Given the description of an element on the screen output the (x, y) to click on. 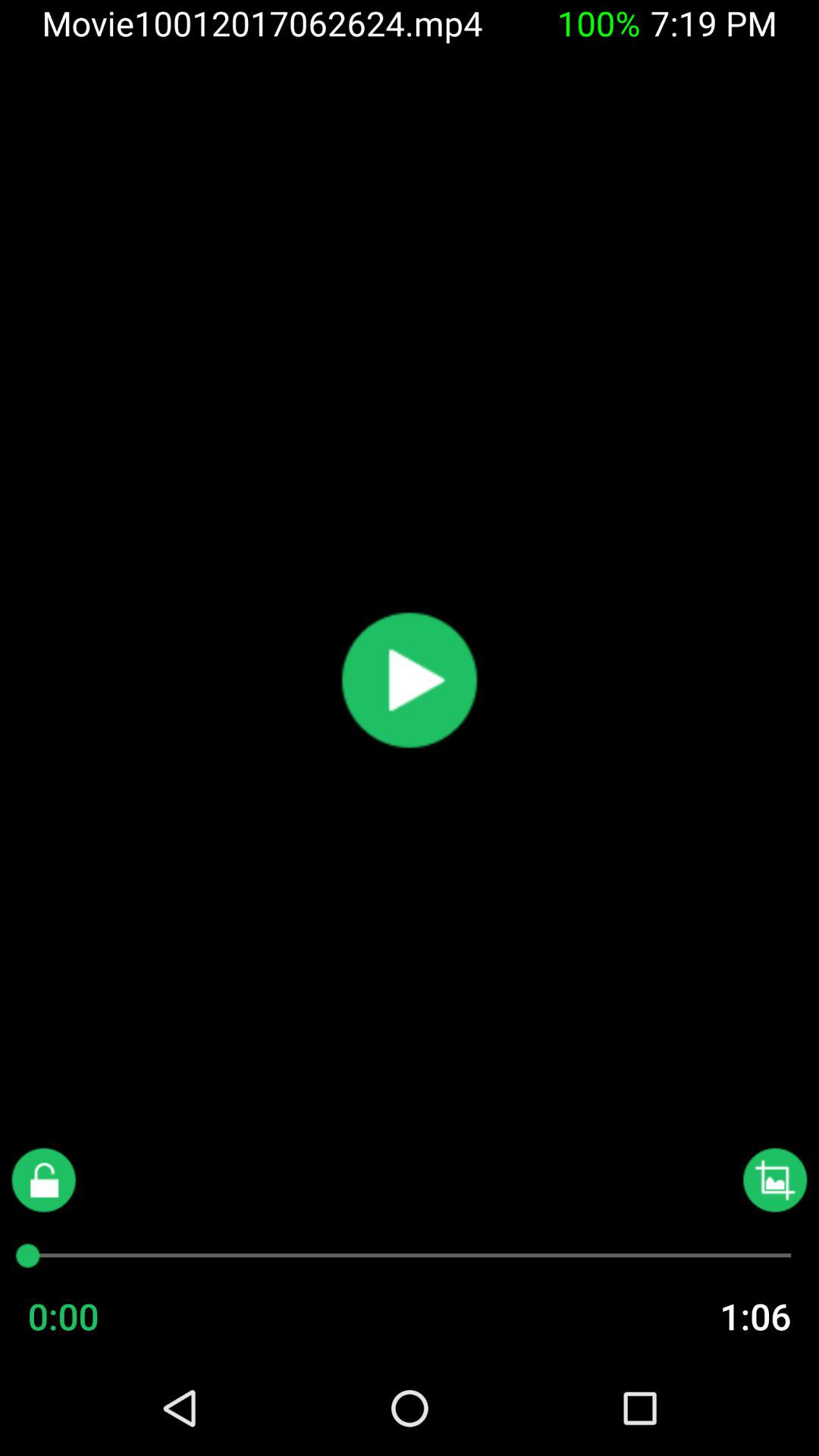
edit video (775, 1179)
